Given the description of an element on the screen output the (x, y) to click on. 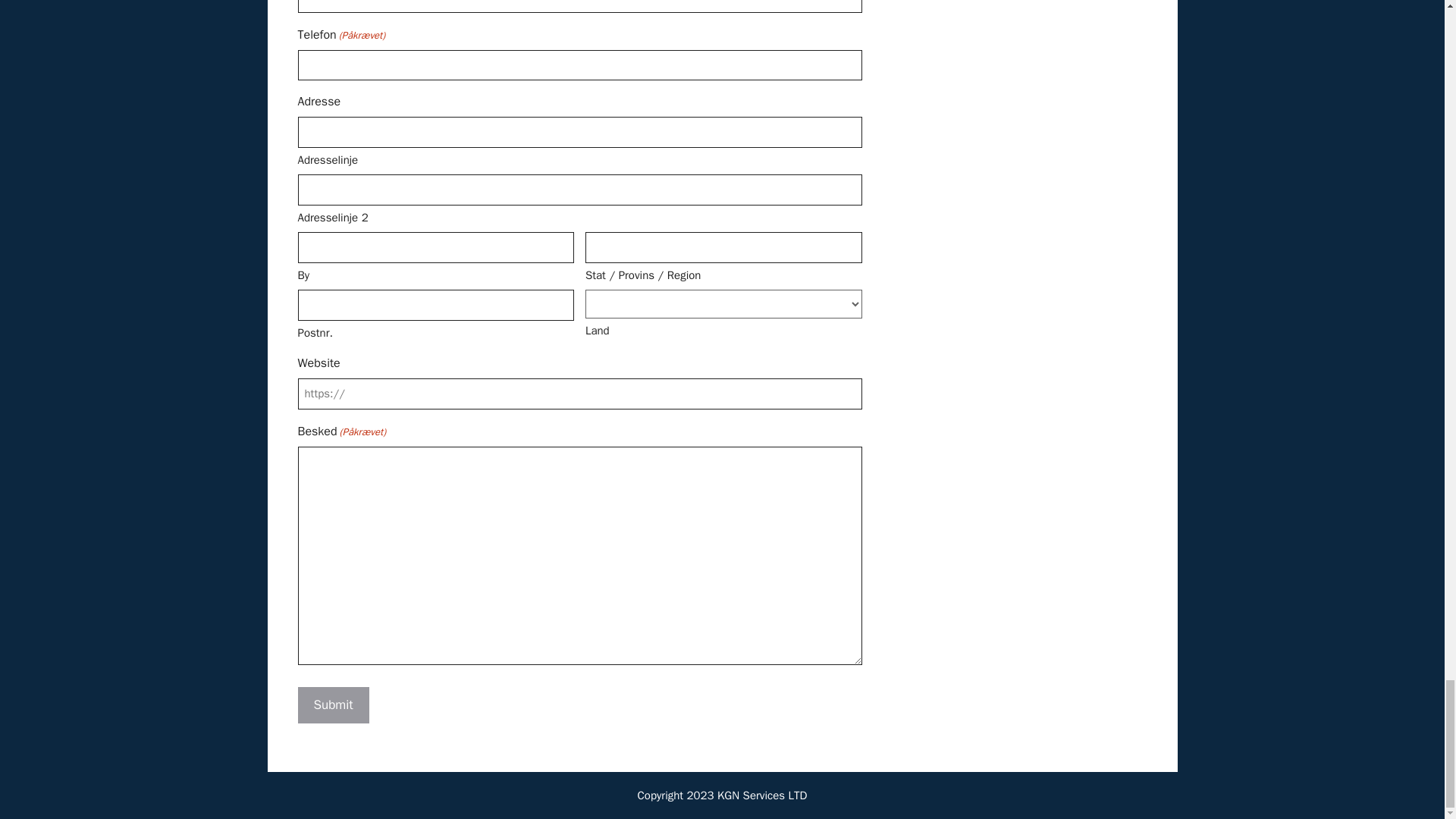
Submit (332, 705)
Submit (332, 705)
